Given the description of an element on the screen output the (x, y) to click on. 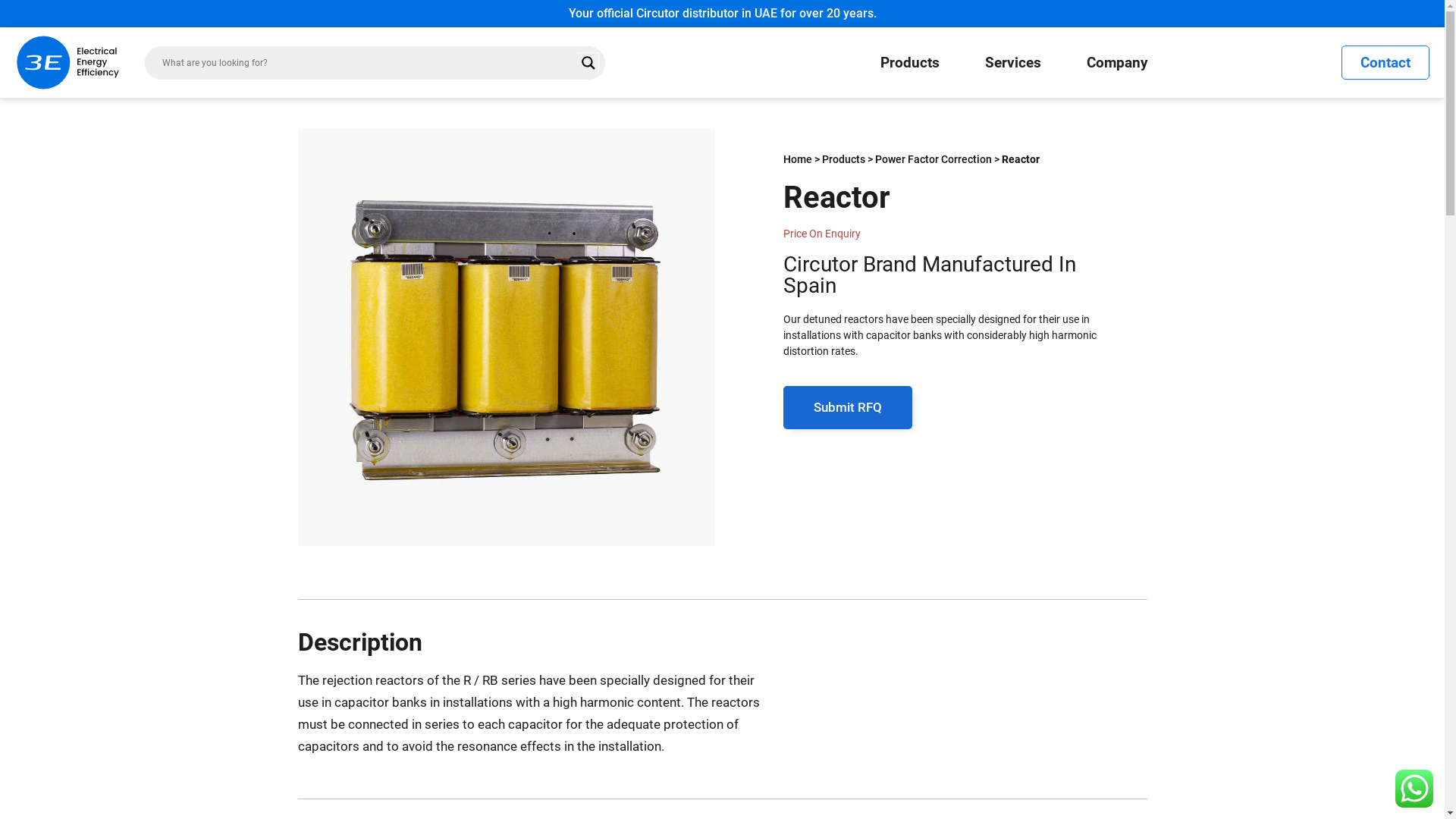
Contact Element type: text (1385, 62)
Services Element type: text (1012, 62)
Products Element type: text (909, 62)
Home Element type: text (796, 159)
Submit RFQ Element type: text (846, 407)
Company Element type: text (1117, 62)
Power Factor Correction Element type: text (933, 159)
Products Element type: text (843, 159)
